Given the description of an element on the screen output the (x, y) to click on. 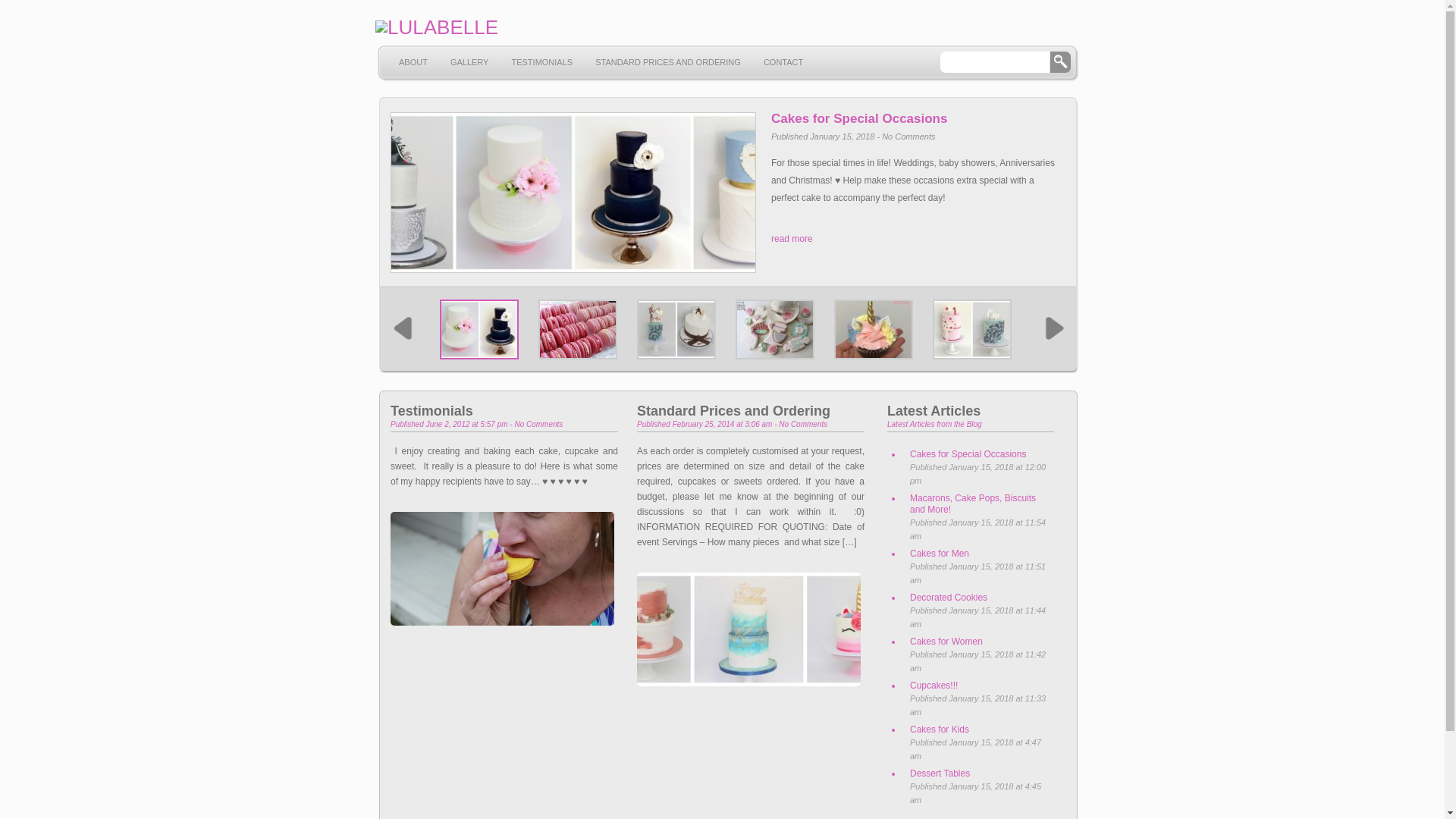
Dessert Tables Element type: text (978, 773)
Standard Prices and Ordering Element type: text (733, 410)
Macarons, Cake Pops, Biscuits and More! Element type: text (978, 503)
Cakes for Women Element type: text (978, 641)
Testimonials Element type: text (431, 410)
CONTACT Element type: text (783, 71)
Cakes for Men Element type: text (978, 553)
Lulabelle Element type: hover (434, 27)
Cakes for Kids Element type: text (978, 729)
STANDARD PRICES AND ORDERING Element type: text (667, 71)
Cakes for Special Occasions Element type: text (978, 454)
TESTIMONIALS Element type: text (541, 71)
ABOUT Element type: text (413, 71)
Cakes for Special Occasions Element type: text (915, 118)
Decorated Cookies Element type: text (978, 597)
GALLERY Element type: text (469, 71)
read more Element type: text (791, 238)
Cupcakes!!! Element type: text (978, 685)
